Given the description of an element on the screen output the (x, y) to click on. 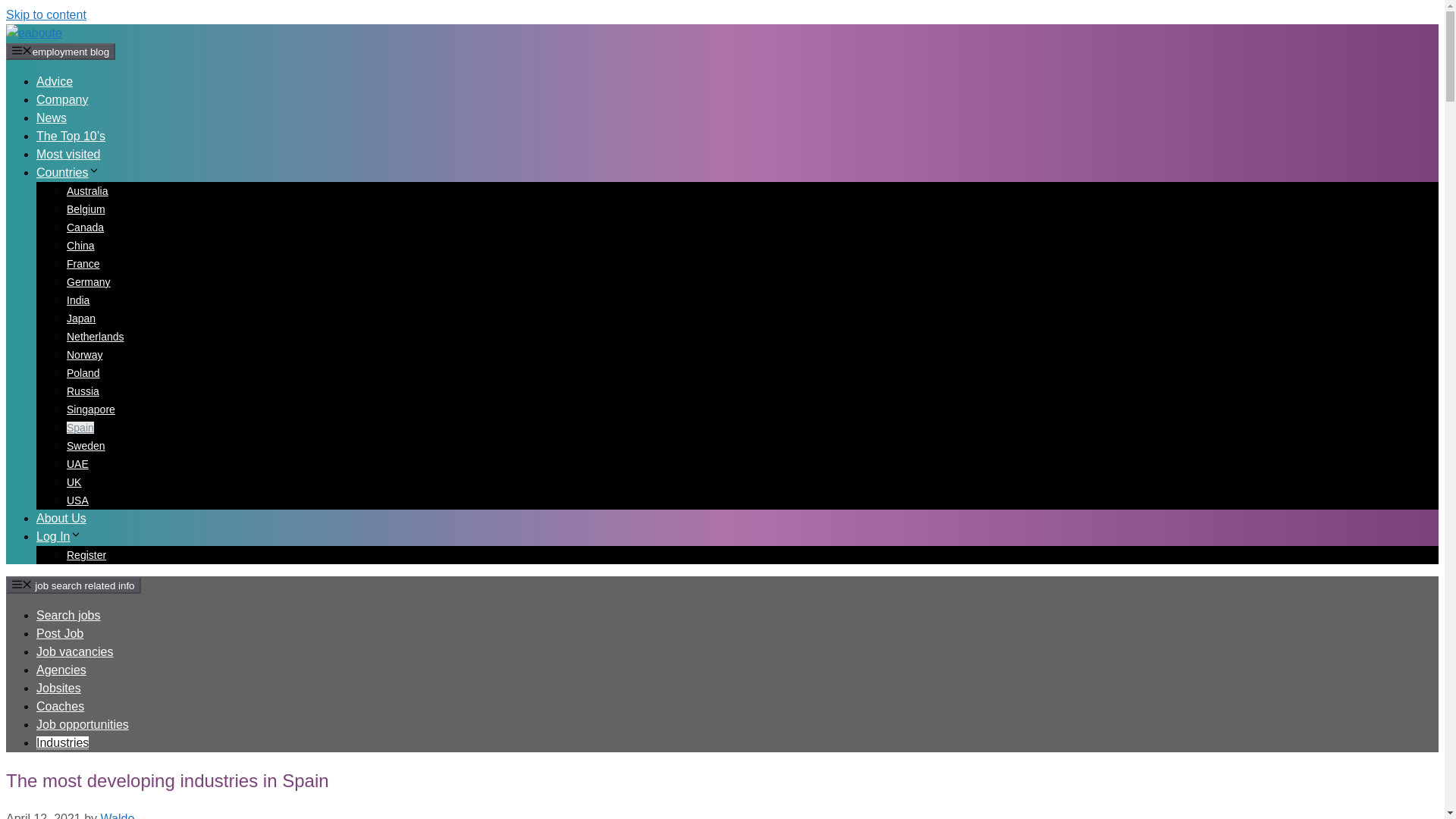
Sweden (85, 445)
Coaches (60, 706)
eaboute (33, 33)
Most visited (68, 154)
Canada (84, 227)
Spain (80, 427)
eaboute (33, 32)
job search related info (73, 585)
Register (86, 554)
Singapore (90, 409)
Skip to content (45, 14)
Germany (88, 282)
About Us (60, 517)
Search jobs (68, 615)
employment blog (60, 51)
